Given the description of an element on the screen output the (x, y) to click on. 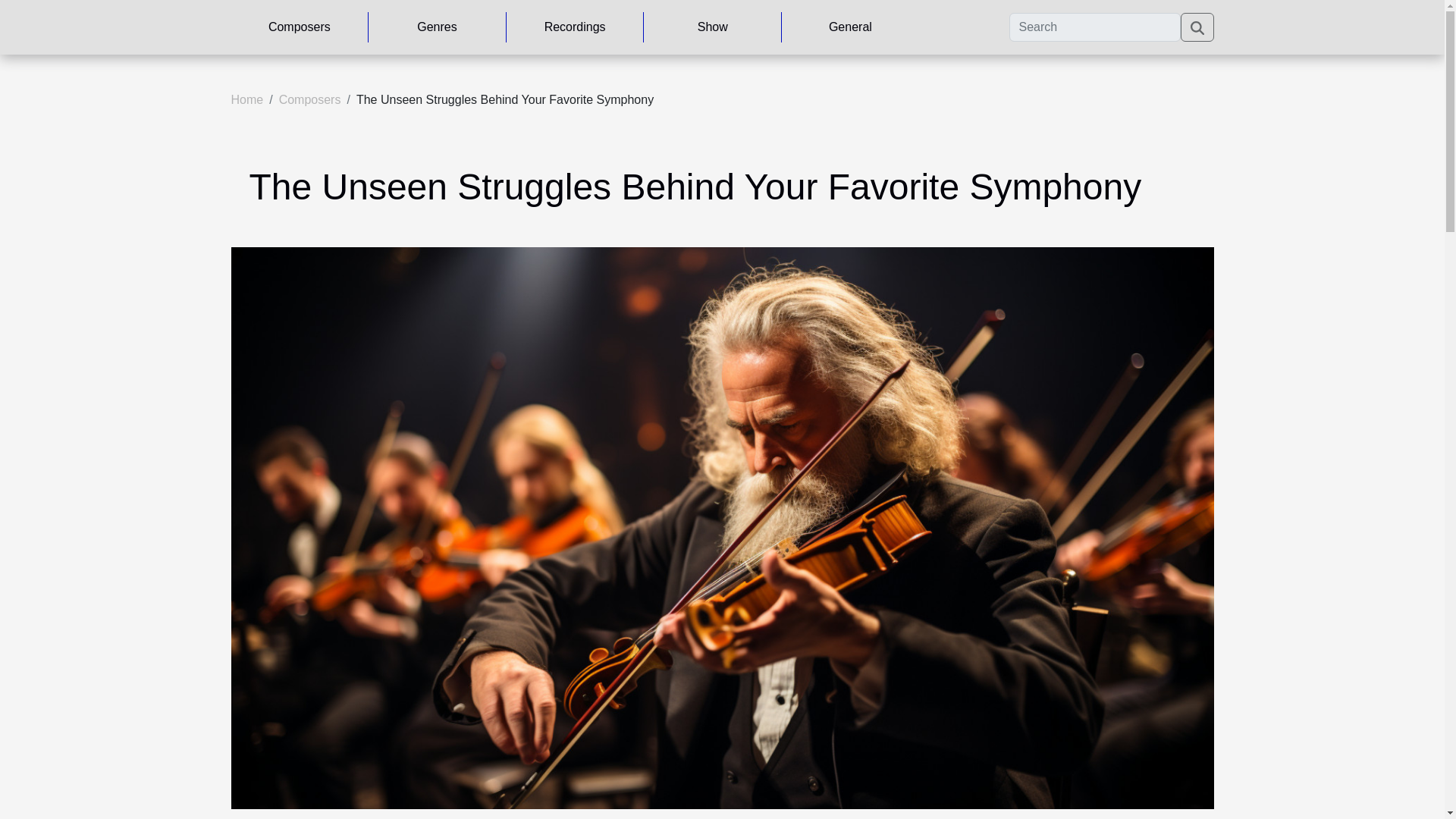
Home (246, 99)
Composers (309, 99)
Show (712, 27)
Recordings (574, 27)
Genres (436, 27)
Composers (299, 27)
Composers (309, 99)
General (850, 27)
